Given the description of an element on the screen output the (x, y) to click on. 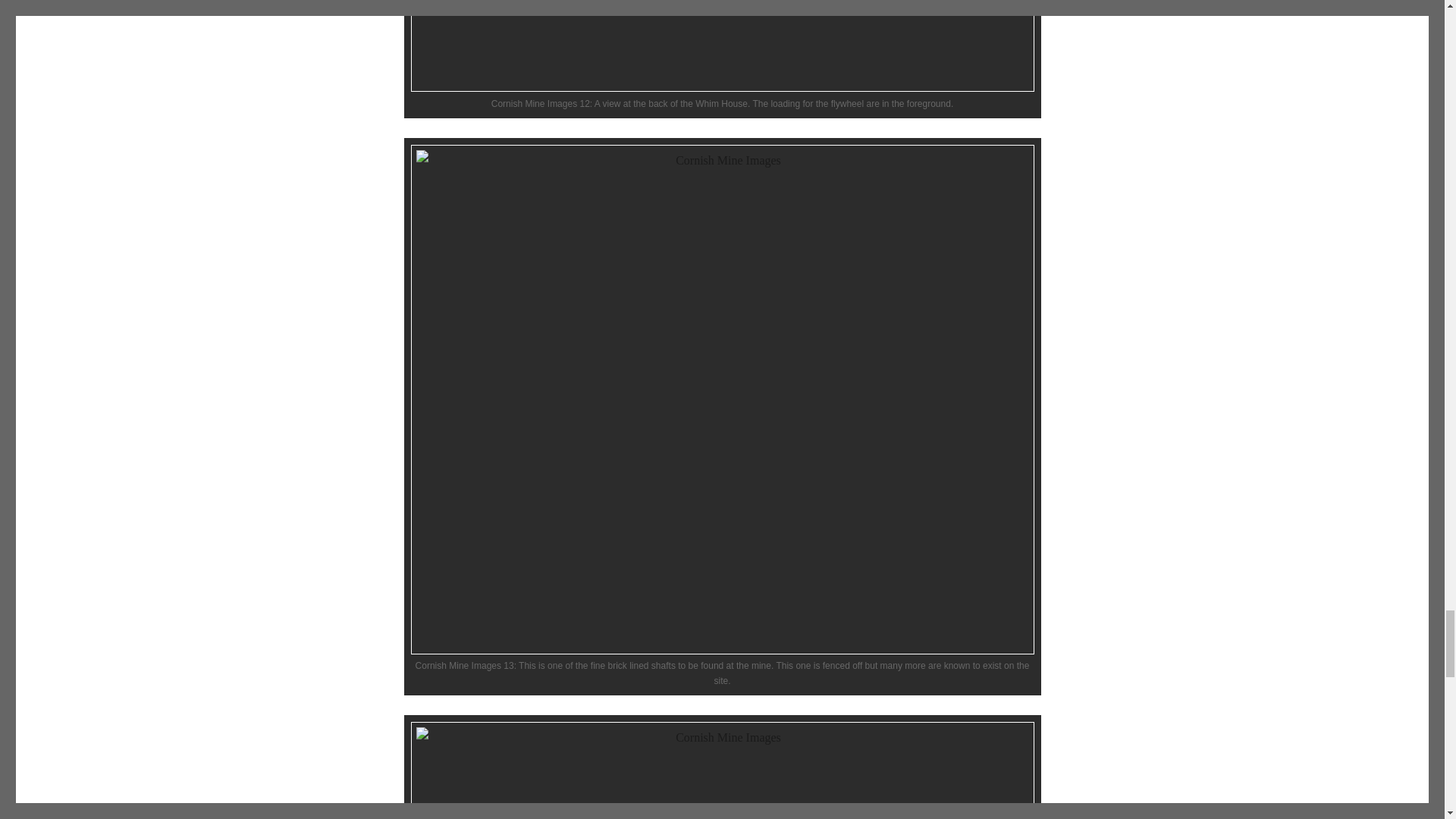
Ding Dong Mine 12 (721, 45)
Ding Dong Mine 14 (721, 770)
